Given the description of an element on the screen output the (x, y) to click on. 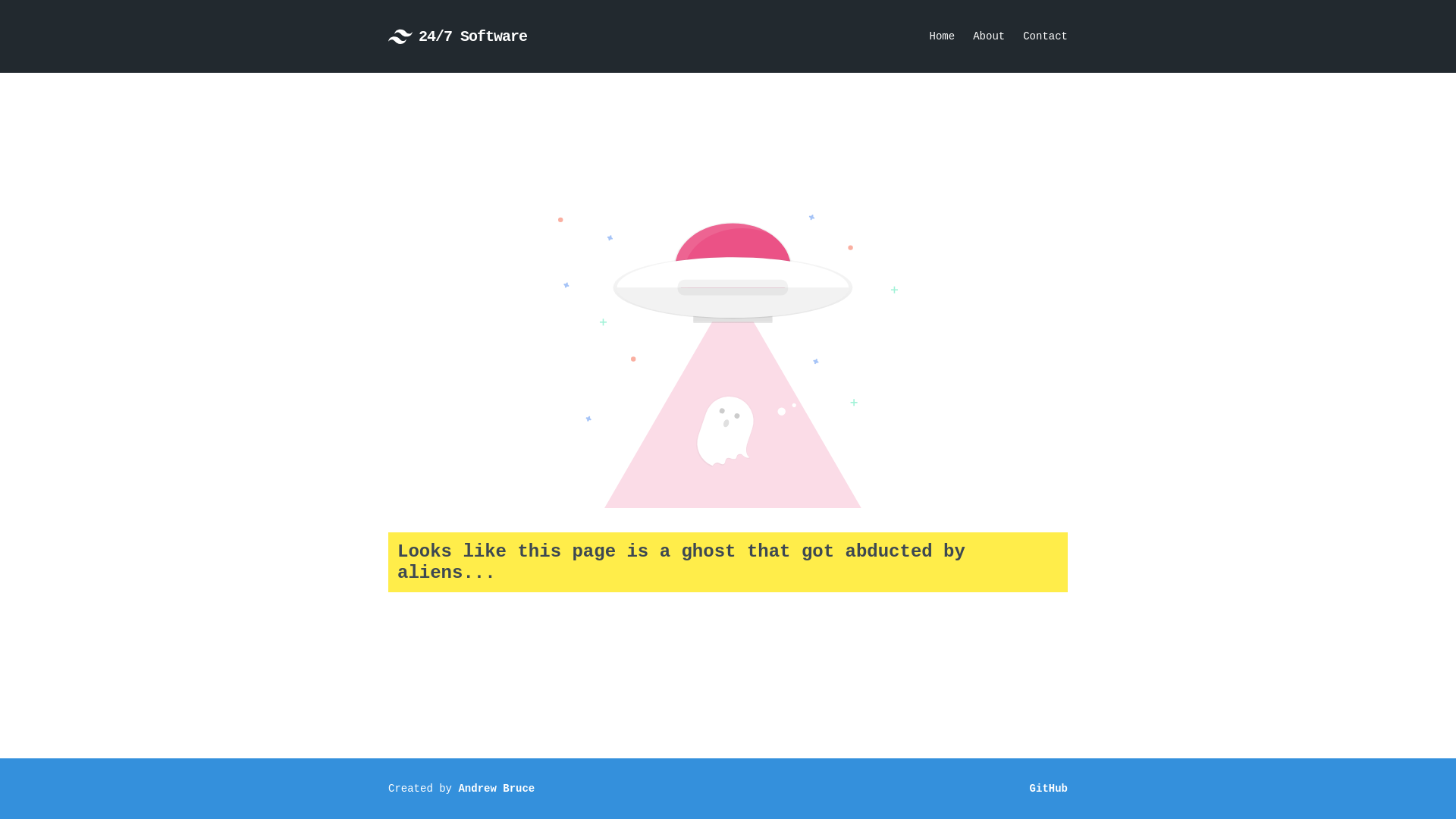
24/7 Software Element type: text (457, 36)
Andrew Bruce Element type: text (496, 788)
GitHub Element type: text (1048, 788)
Home Element type: text (942, 36)
Contact Element type: text (1044, 36)
About Element type: text (988, 36)
